Given the description of an element on the screen output the (x, y) to click on. 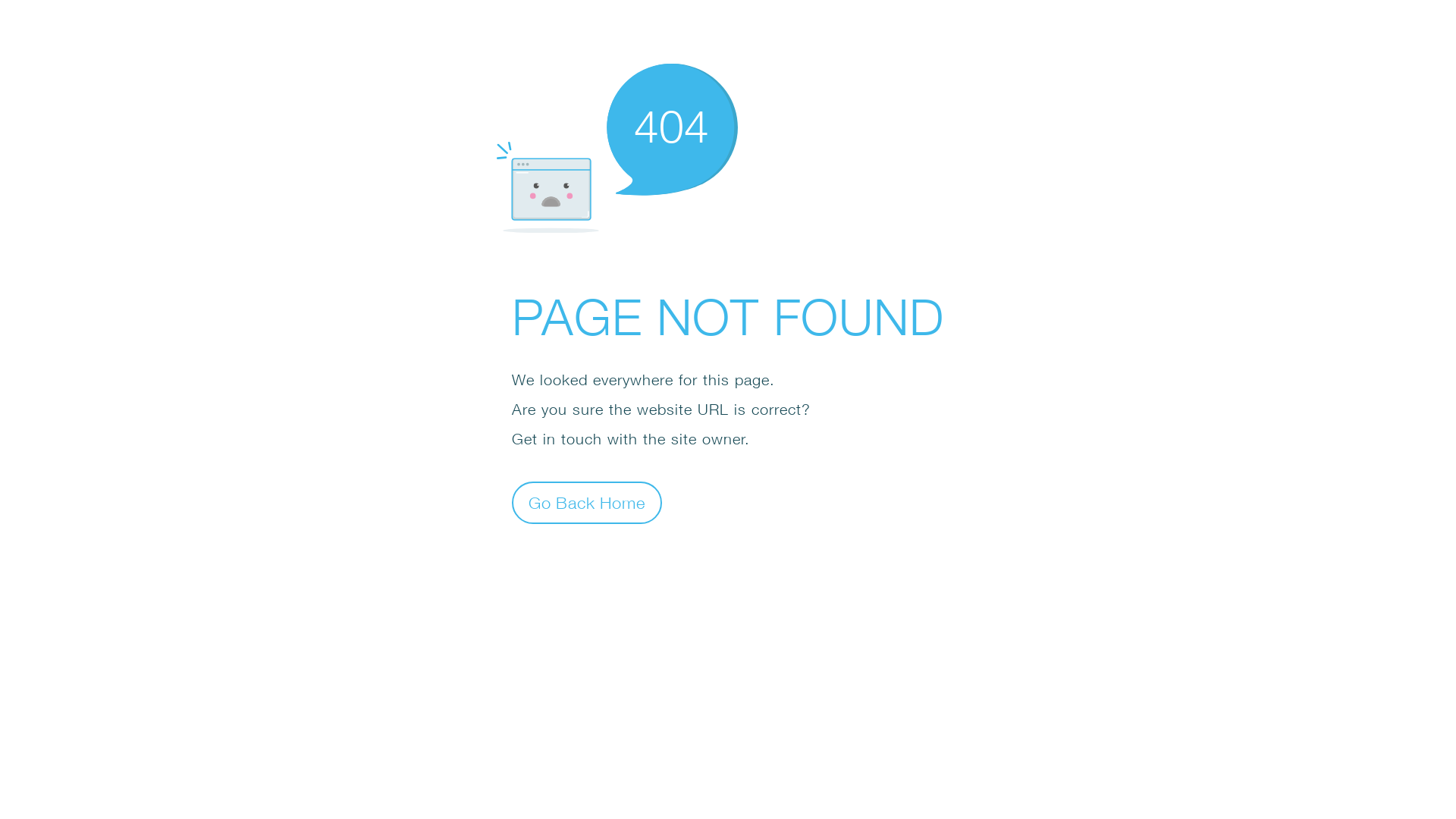
Go Back Home Element type: text (586, 502)
